Given the description of an element on the screen output the (x, y) to click on. 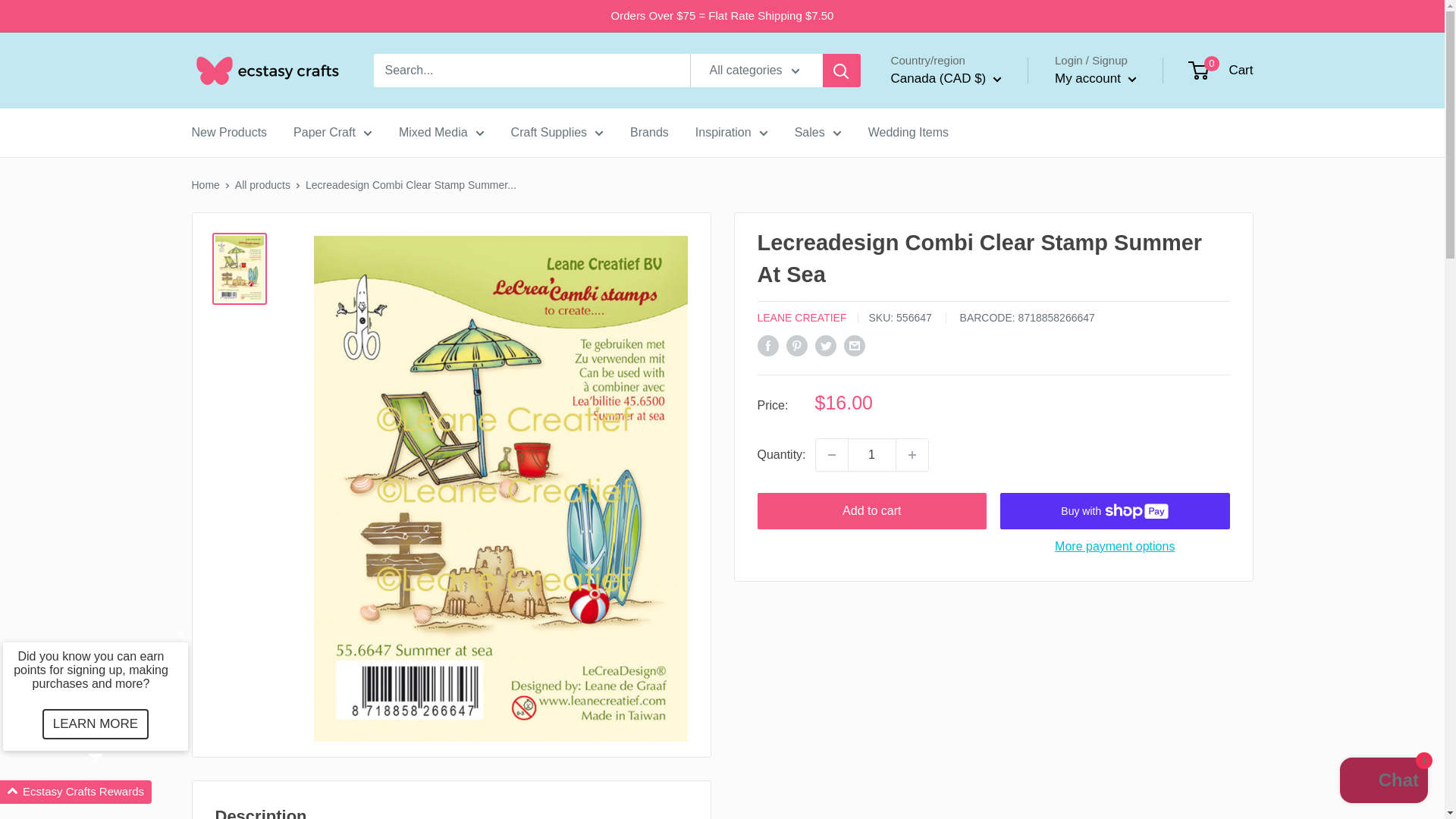
Decrease quantity by 1 (831, 454)
1 (871, 454)
Increase quantity by 1 (912, 454)
